Given the description of an element on the screen output the (x, y) to click on. 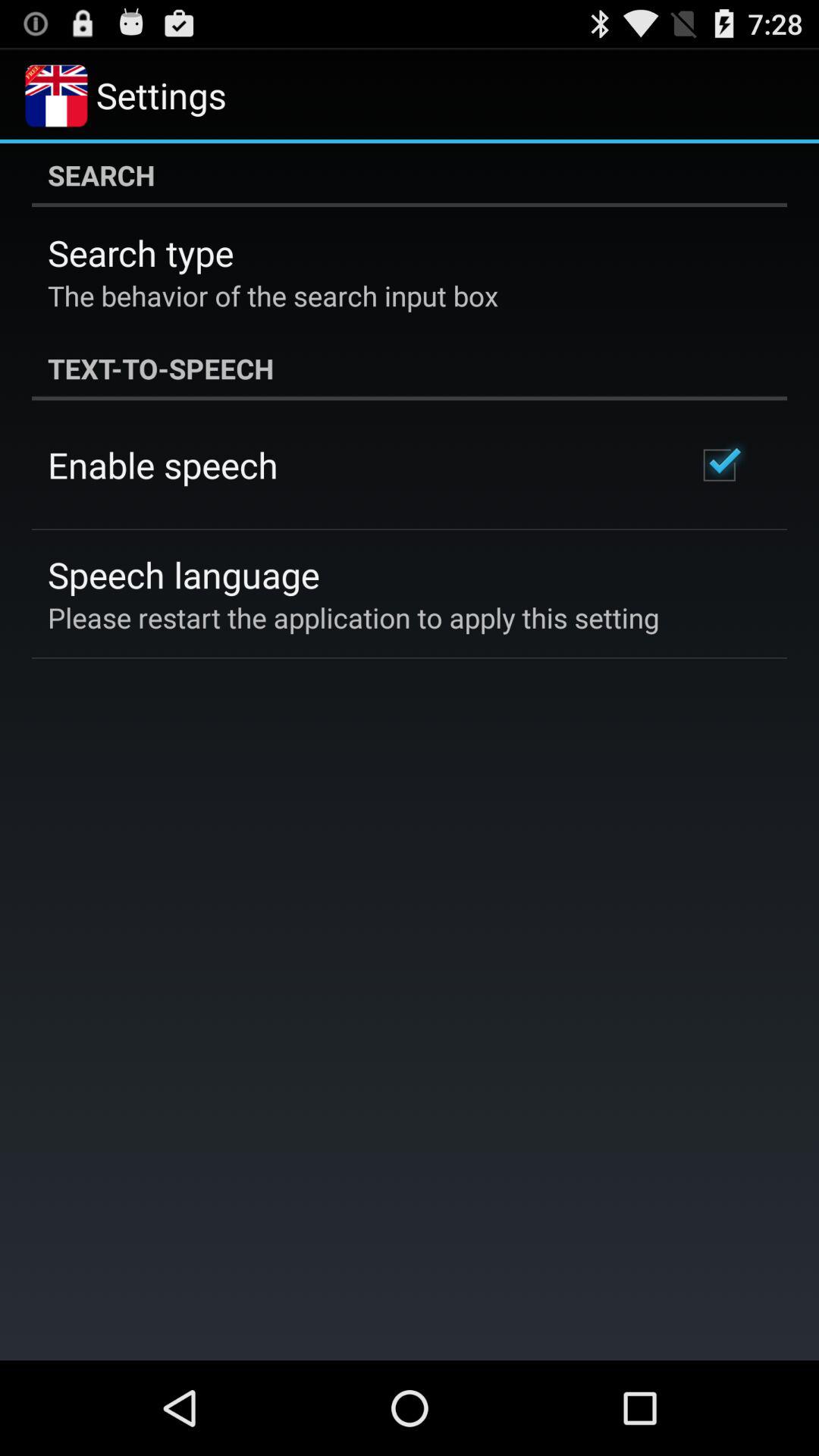
open icon at the top right corner (719, 465)
